Given the description of an element on the screen output the (x, y) to click on. 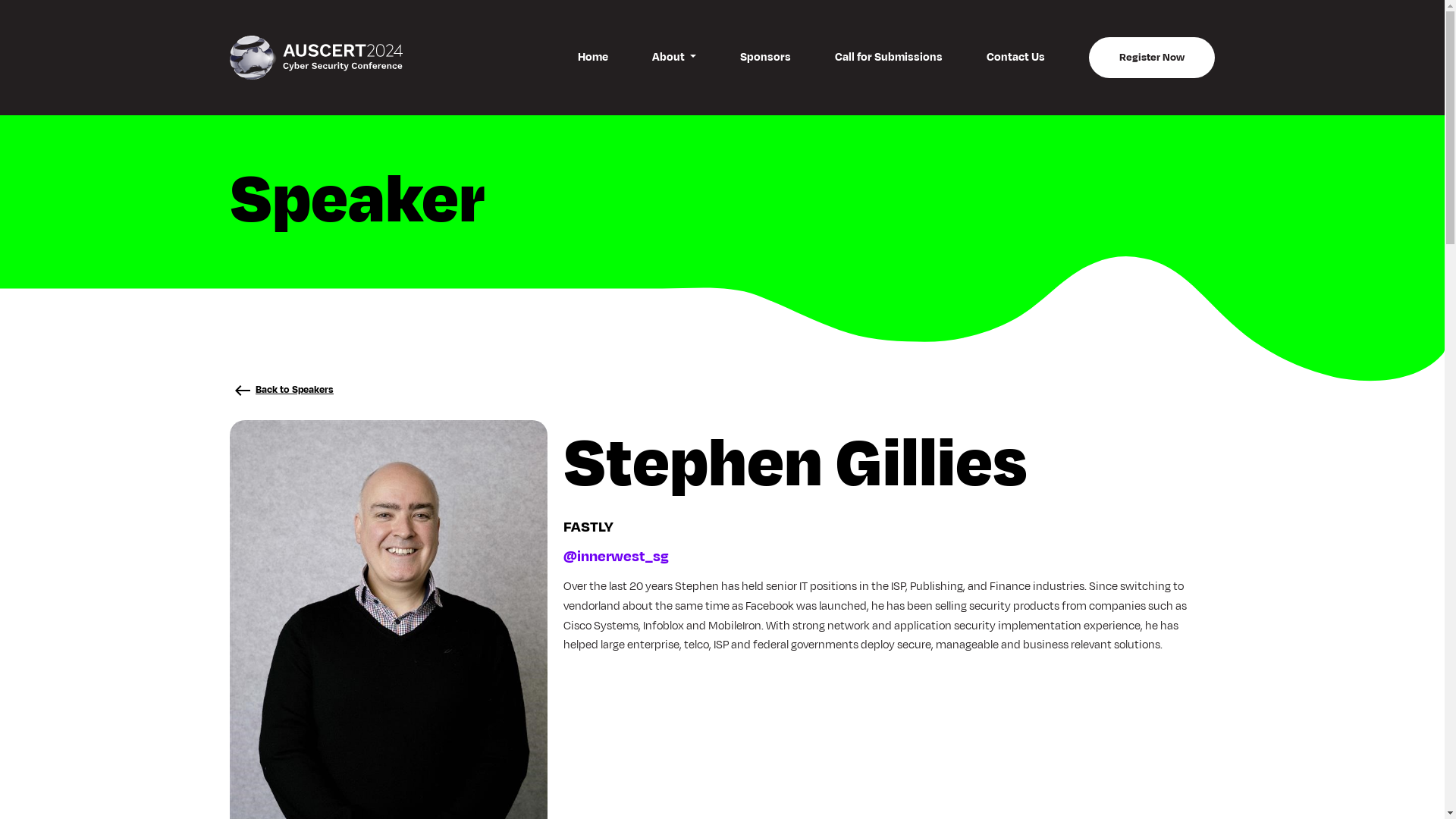
innerwest_sg Element type: text (622, 556)
AUSCERT Cyber Security Conference Element type: hover (315, 57)
Home Element type: text (592, 57)
About Element type: text (674, 57)
Contact Us Element type: text (1015, 57)
Call for Submissions Element type: text (888, 57)
Back to Speakers Element type: text (281, 389)
Sponsors Element type: text (765, 57)
Register Now Element type: text (1151, 57)
